Given the description of an element on the screen output the (x, y) to click on. 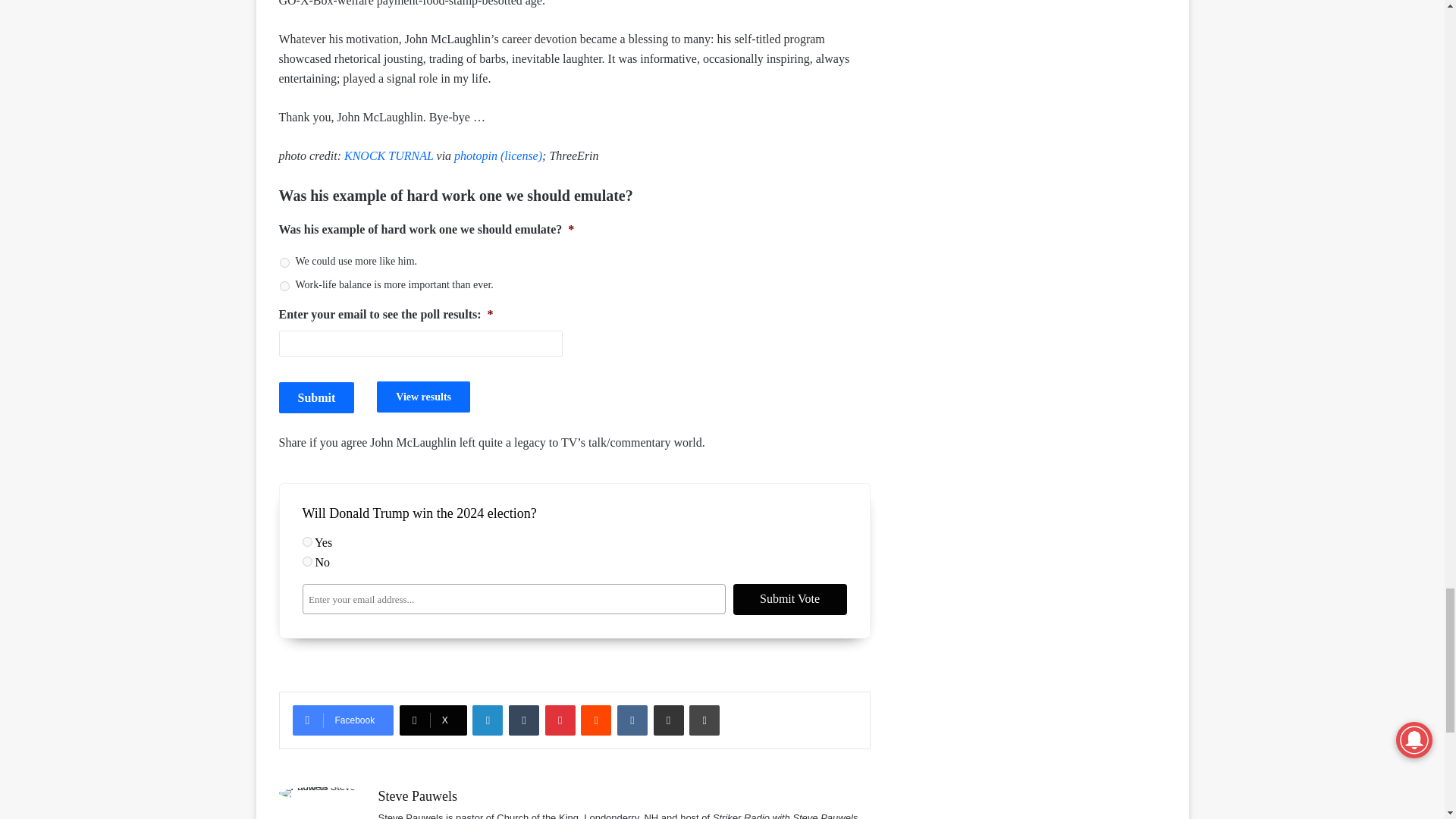
Tumblr (523, 720)
gpoll1324f5059 (283, 262)
X (432, 720)
Facebook (343, 720)
KNOCK TURNAL (388, 155)
View results (423, 396)
Share via Email (668, 720)
LinkedIn (486, 720)
Submit (317, 397)
Print (703, 720)
Reddit (595, 720)
Pinterest (559, 720)
VKontakte (632, 720)
photopin (475, 155)
9 (306, 542)
